Given the description of an element on the screen output the (x, y) to click on. 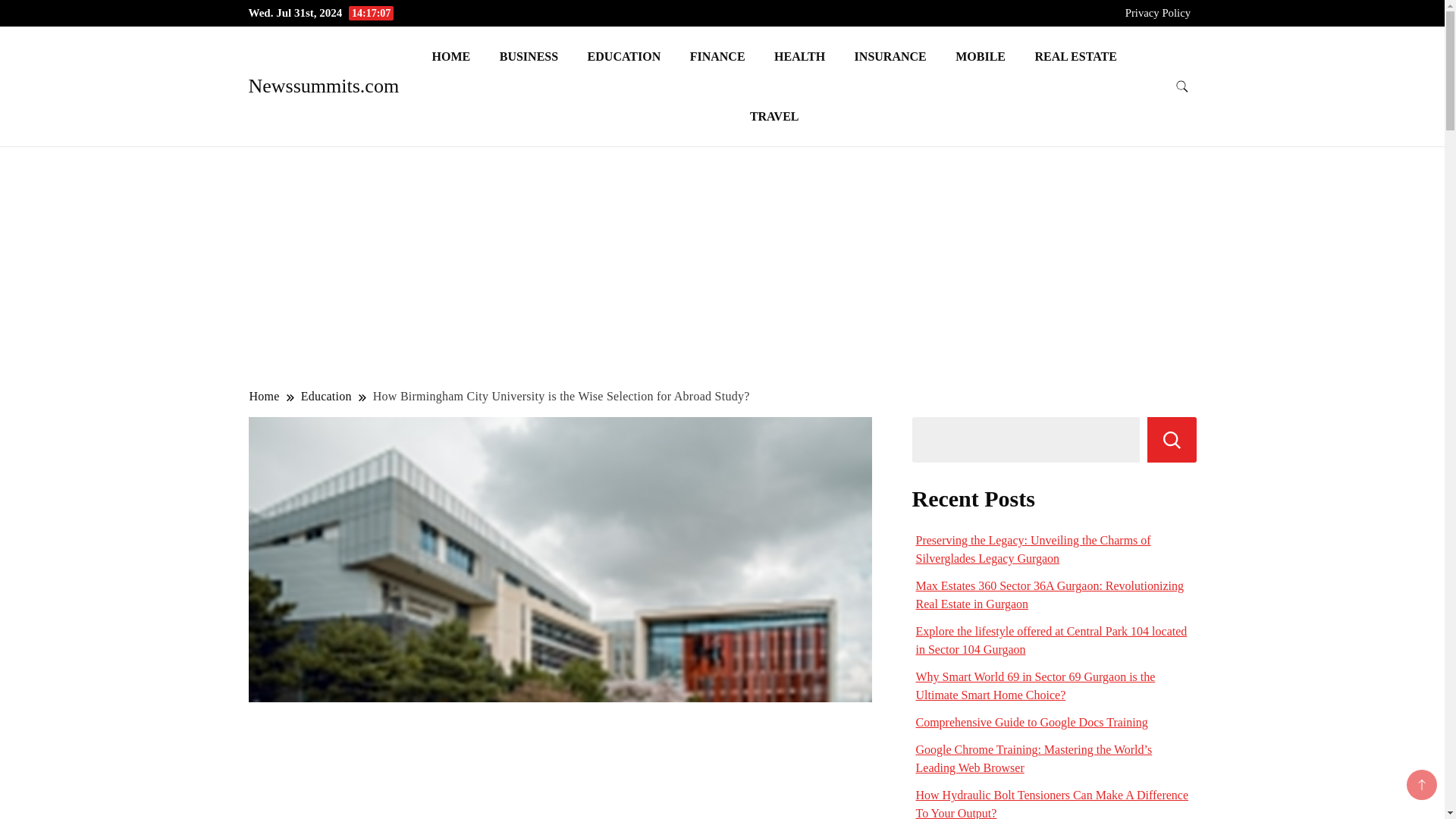
Newssummits.com (323, 86)
REAL ESTATE (1075, 56)
EDUCATION (624, 56)
FINANCE (717, 56)
Privacy Policy (1158, 12)
HOME (451, 56)
HEALTH (799, 56)
Home (264, 396)
TRAVEL (774, 116)
INSURANCE (890, 56)
Education (325, 396)
BUSINESS (528, 56)
MOBILE (979, 56)
